Given the description of an element on the screen output the (x, y) to click on. 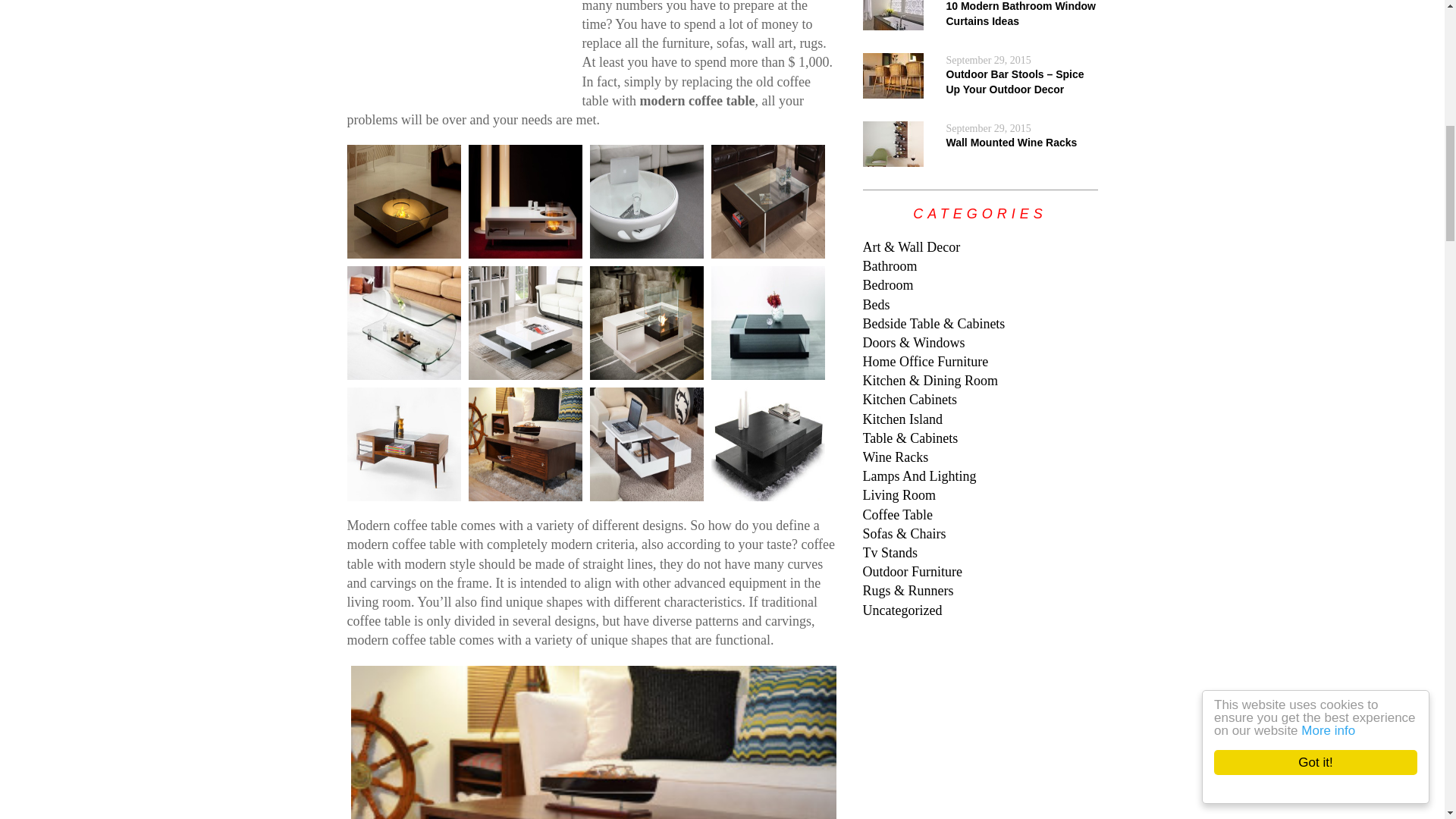
Advertisement (461, 45)
10 Modern Bathroom Window Curtains Ideas (1021, 13)
10 Modern Bathroom Window Curtains Ideas (893, 19)
Wall Mounted Wine Racks (1011, 142)
Wall Mounted Wine Racks (893, 155)
